Given the description of an element on the screen output the (x, y) to click on. 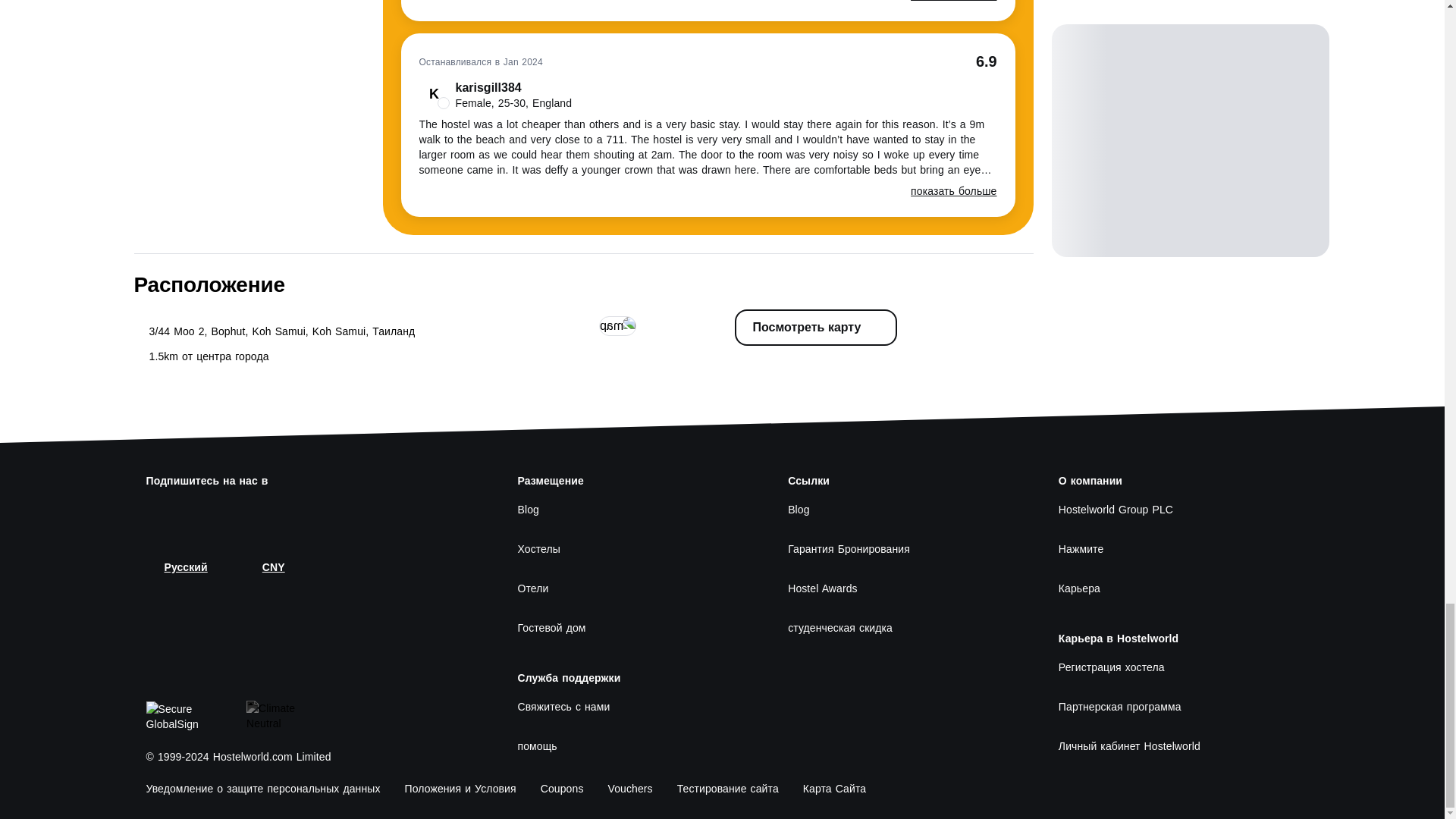
CNY (263, 566)
Blog (634, 509)
Hostelworld Instagram (230, 512)
karisgill384 (495, 94)
Blog (904, 509)
Hostelworld Pinterest (303, 512)
Blog (634, 509)
Hostelworld YouTube (266, 512)
Hostelworld Facebook (157, 512)
Hostel Awards (904, 588)
Hostelworld Twitter (194, 512)
Hostelworld Tiktok (339, 512)
